Given the description of an element on the screen output the (x, y) to click on. 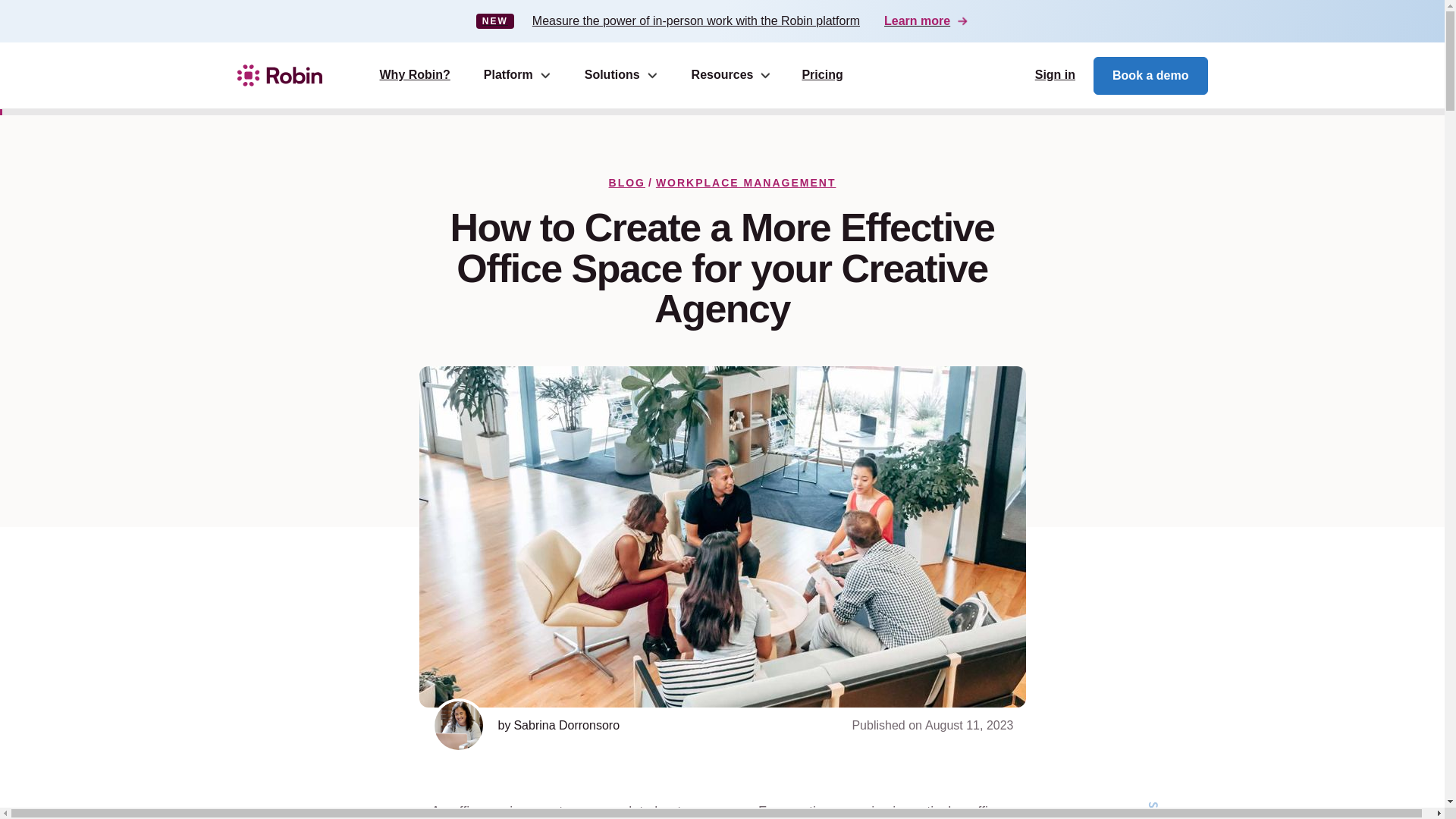
Why Robin? (413, 75)
